Given the description of an element on the screen output the (x, y) to click on. 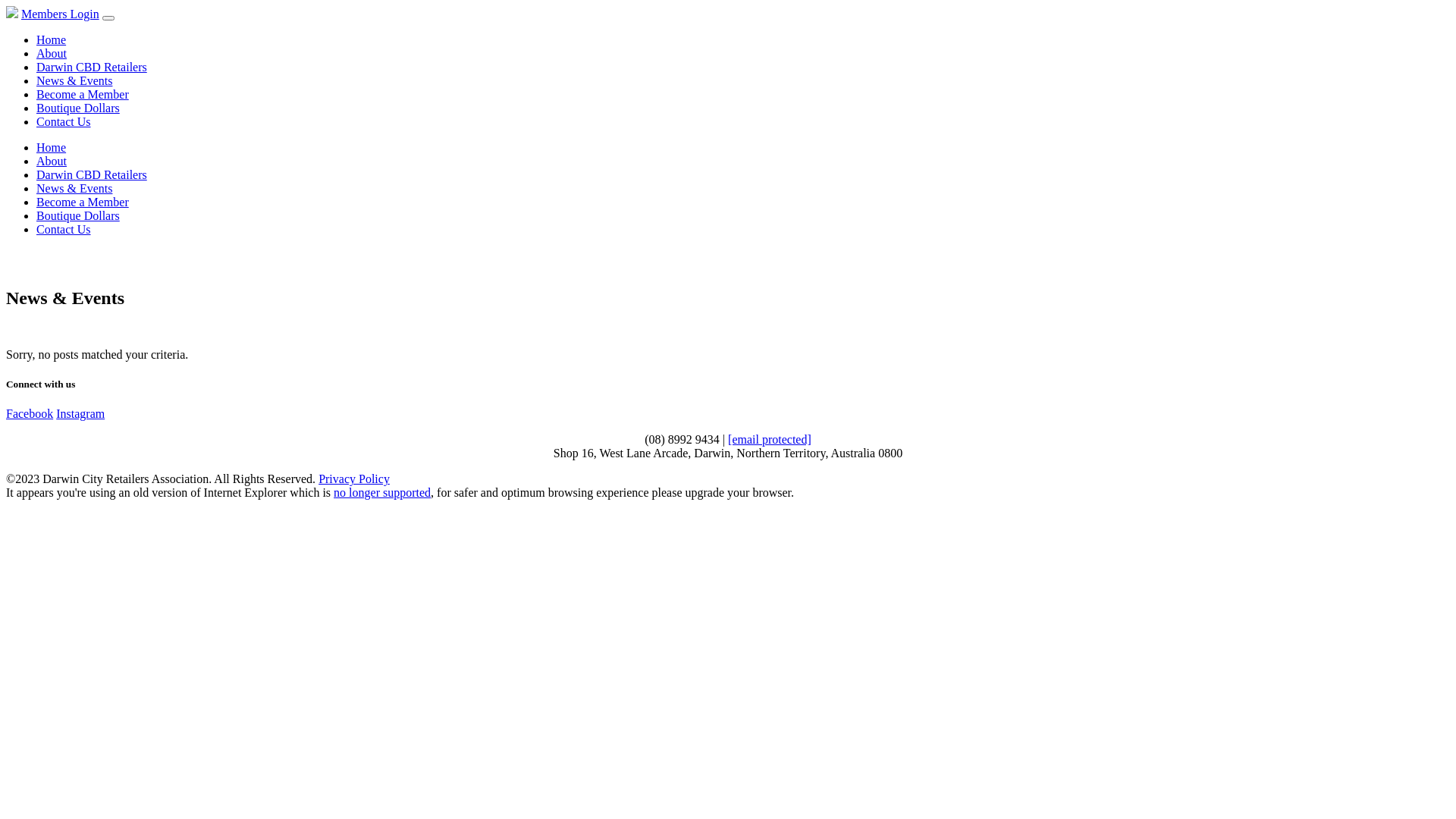
Boutique Dollars Element type: text (77, 215)
[email protected] Element type: text (769, 439)
About Element type: text (51, 53)
Contact Us Element type: text (63, 121)
Facebook Element type: text (29, 413)
Home Element type: text (50, 39)
no longer supported Element type: text (381, 492)
News & Events Element type: text (74, 188)
News & Events Element type: text (74, 80)
Contact Us Element type: text (63, 228)
Become a Member Element type: text (82, 201)
Boutique Dollars Element type: text (77, 107)
Become a Member Element type: text (82, 93)
About Element type: text (51, 160)
Privacy Policy Element type: text (353, 478)
Darwin CBD Retailers Element type: text (91, 66)
Instagram Element type: text (80, 413)
Darwin CBD Retailers Element type: text (91, 174)
Home Element type: text (50, 147)
Members Login Element type: text (60, 13)
